Given the description of an element on the screen output the (x, y) to click on. 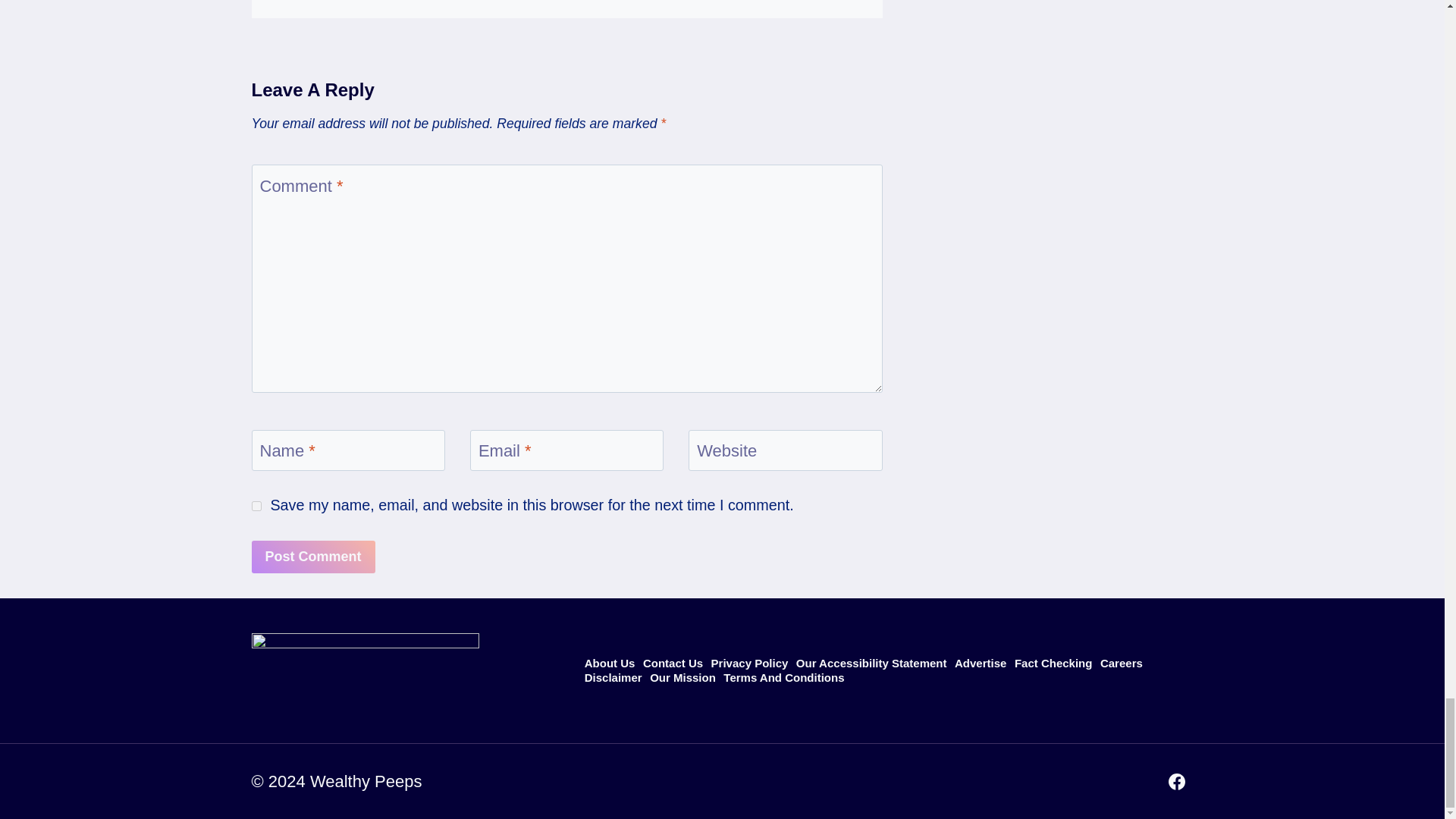
Post Comment (313, 556)
yes (256, 506)
